Given the description of an element on the screen output the (x, y) to click on. 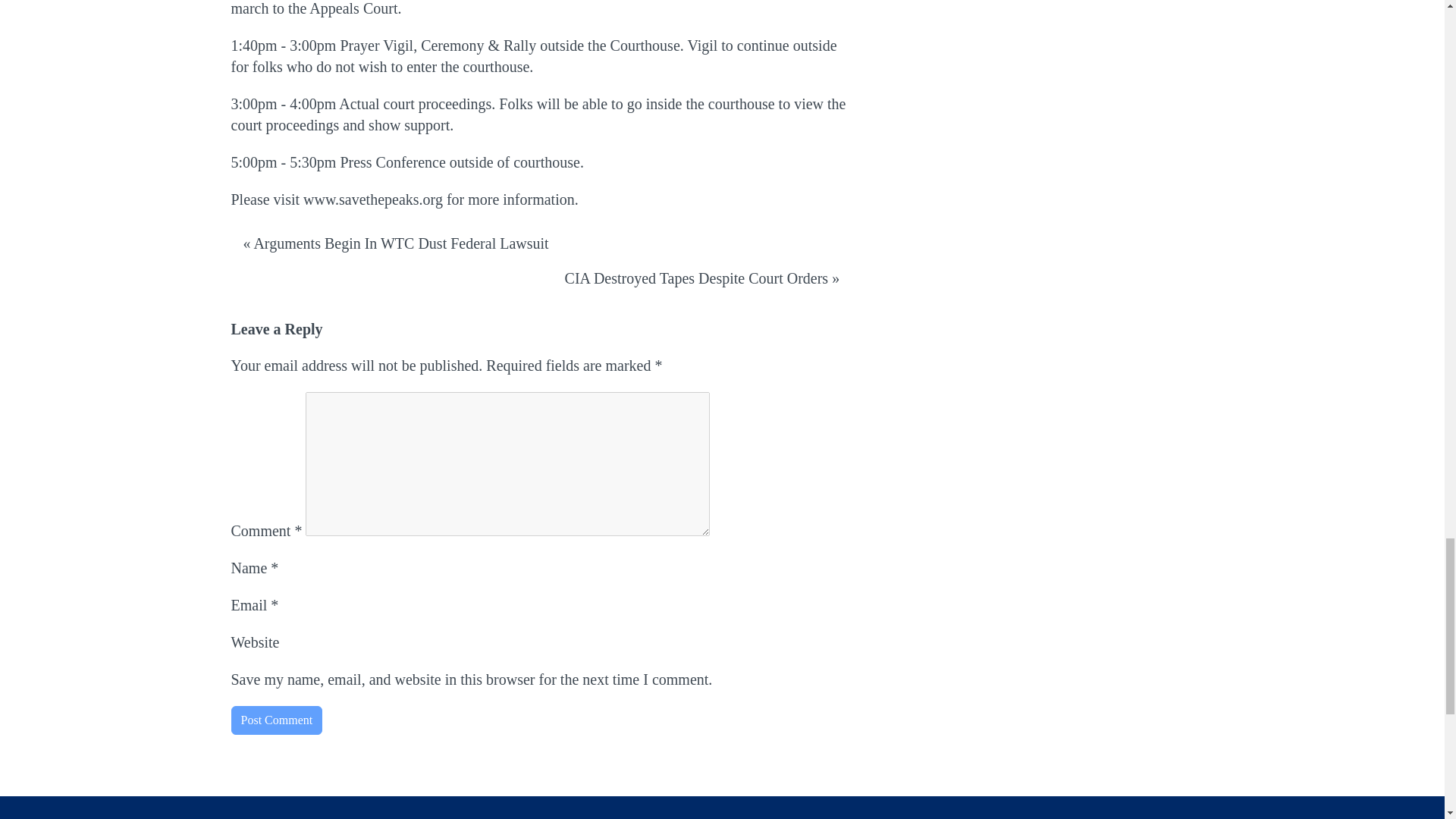
Post Comment (275, 719)
